Given the description of an element on the screen output the (x, y) to click on. 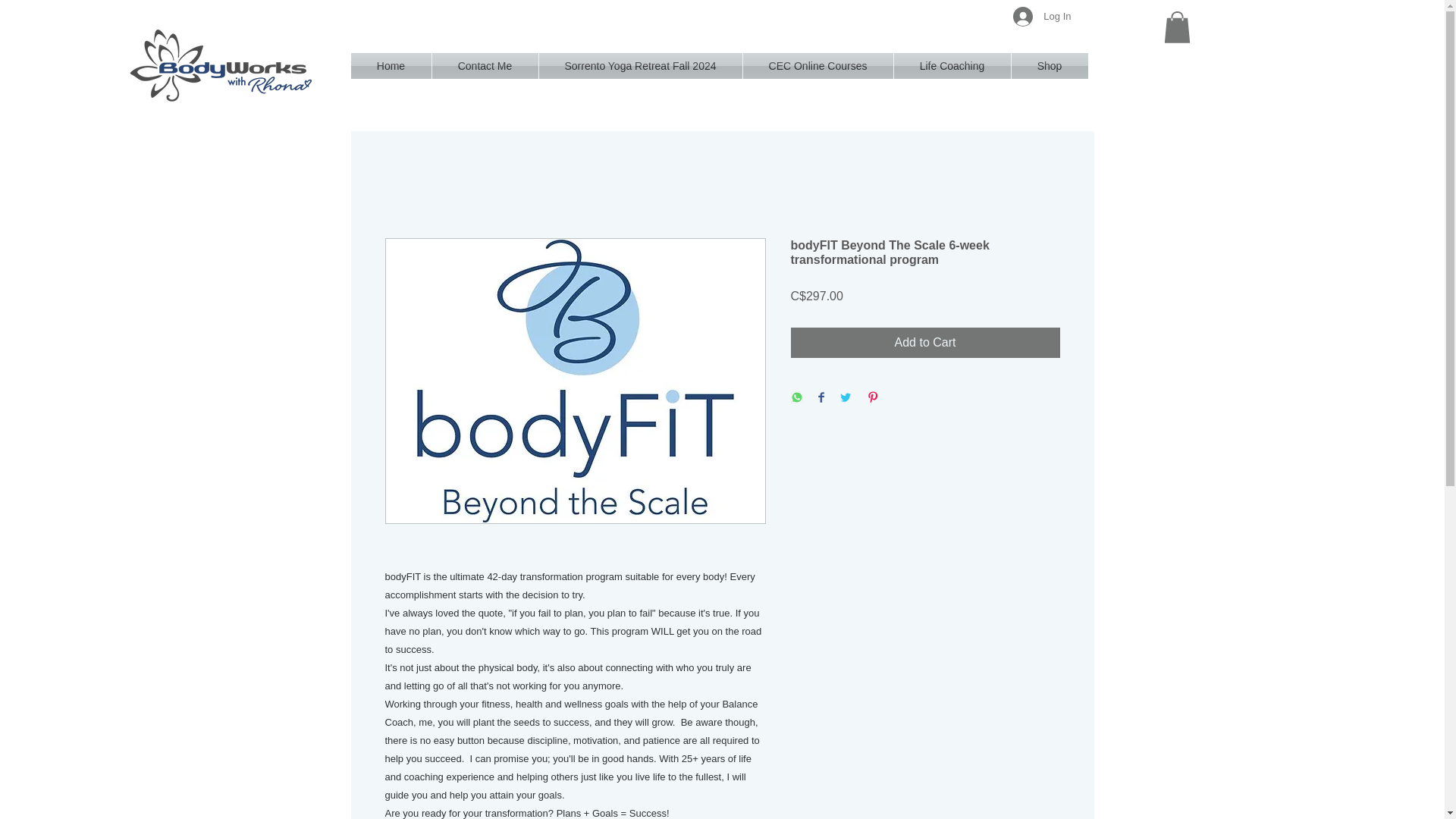
Shop (1049, 65)
Add to Cart (924, 342)
Log In (1042, 16)
CEC Online Courses (817, 65)
Home (390, 65)
Life Coaching (951, 65)
Contact Me (485, 65)
Sorrento Yoga Retreat Fall 2024 (639, 65)
